Given the description of an element on the screen output the (x, y) to click on. 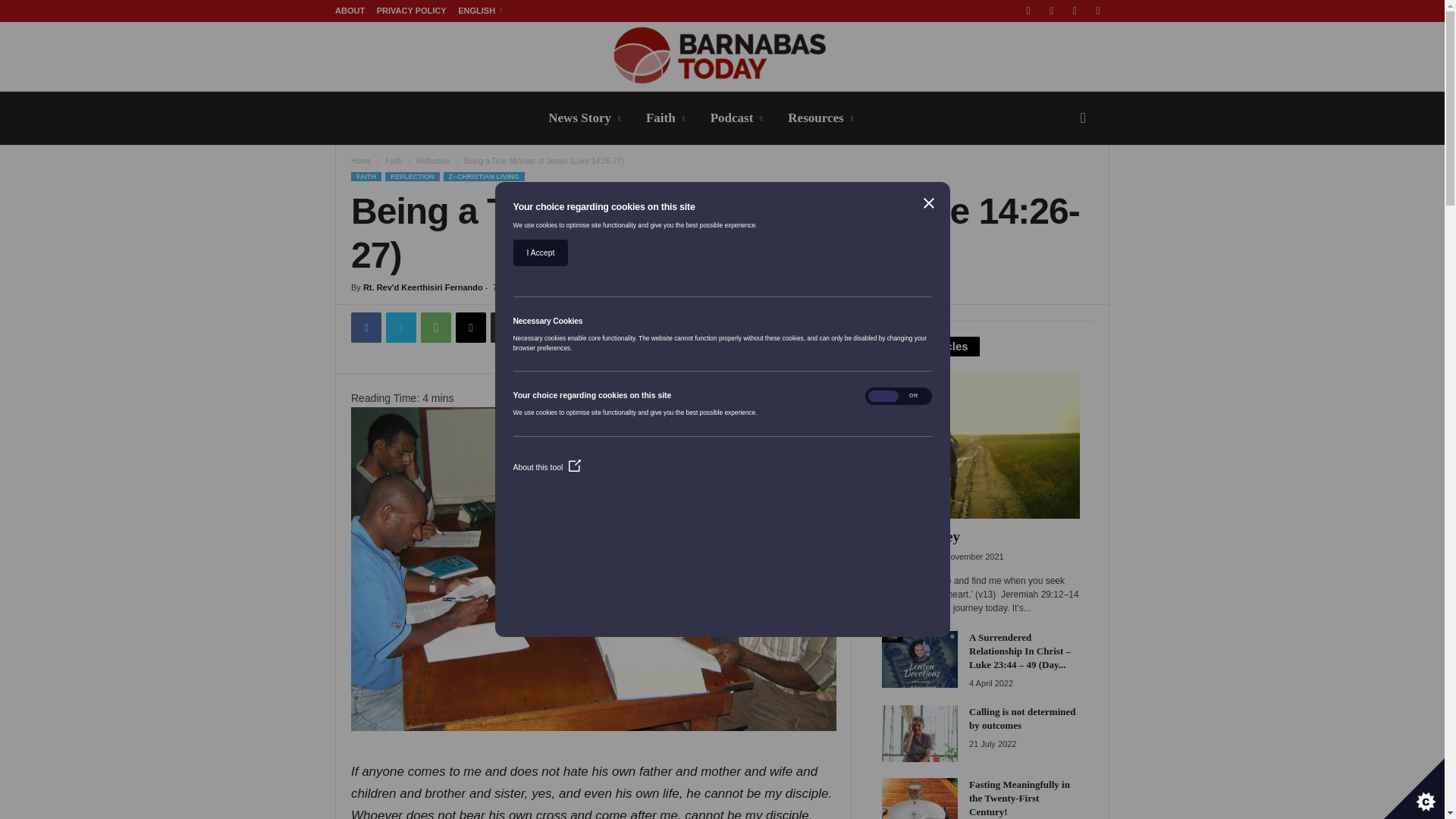
ENGLISH (480, 11)
English (480, 11)
I Accept (539, 252)
PRIVACY POLICY (411, 10)
ABOUT (349, 10)
